Given the description of an element on the screen output the (x, y) to click on. 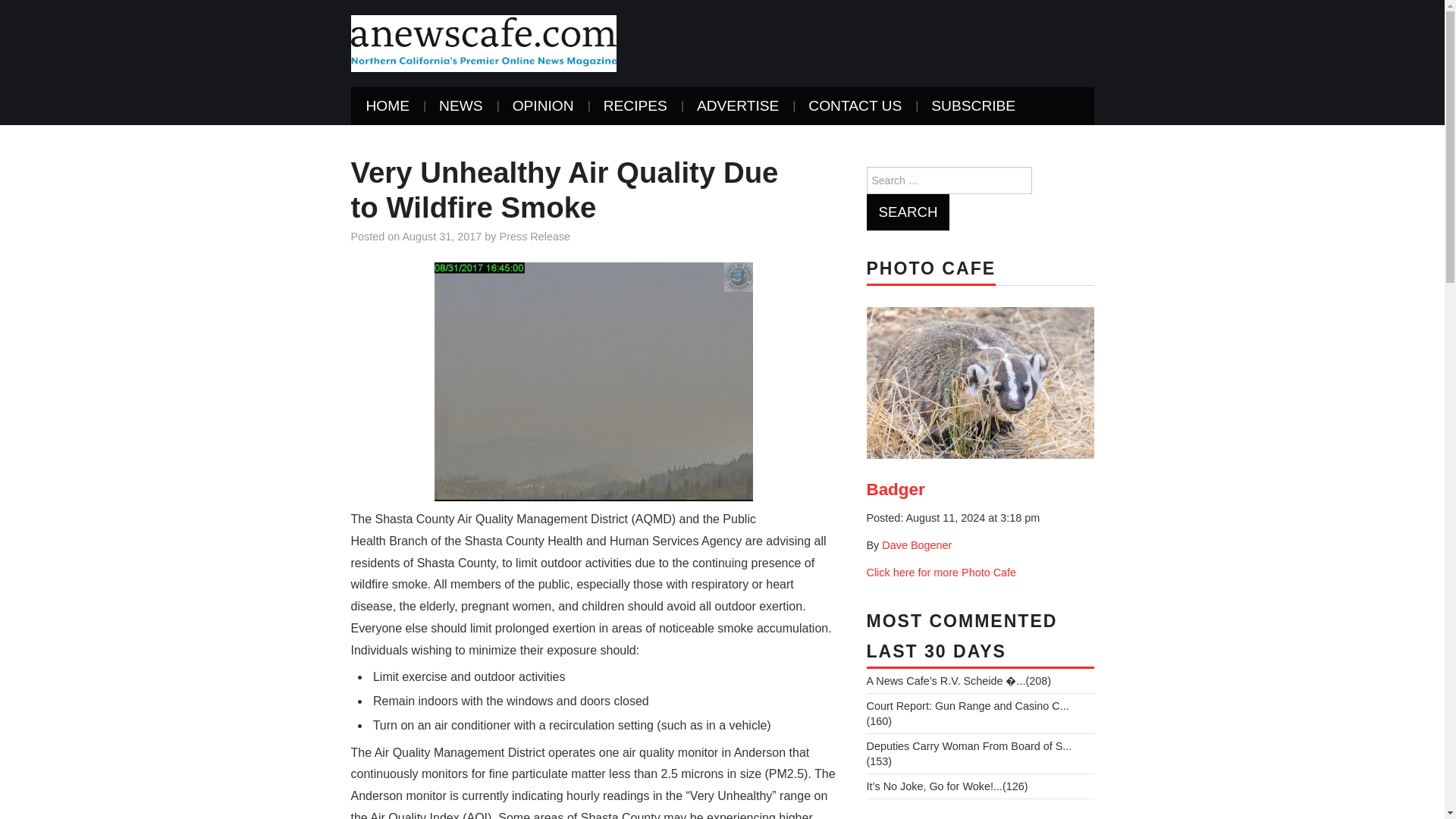
Badger (979, 381)
Search (907, 212)
CONTACT US (855, 105)
Press Release (534, 236)
Search for: (948, 180)
4:51 pm (442, 236)
RECIPES (635, 105)
SUBSCRIBE (972, 105)
anewscafe.com (482, 42)
ADVERTISE (737, 105)
